Given the description of an element on the screen output the (x, y) to click on. 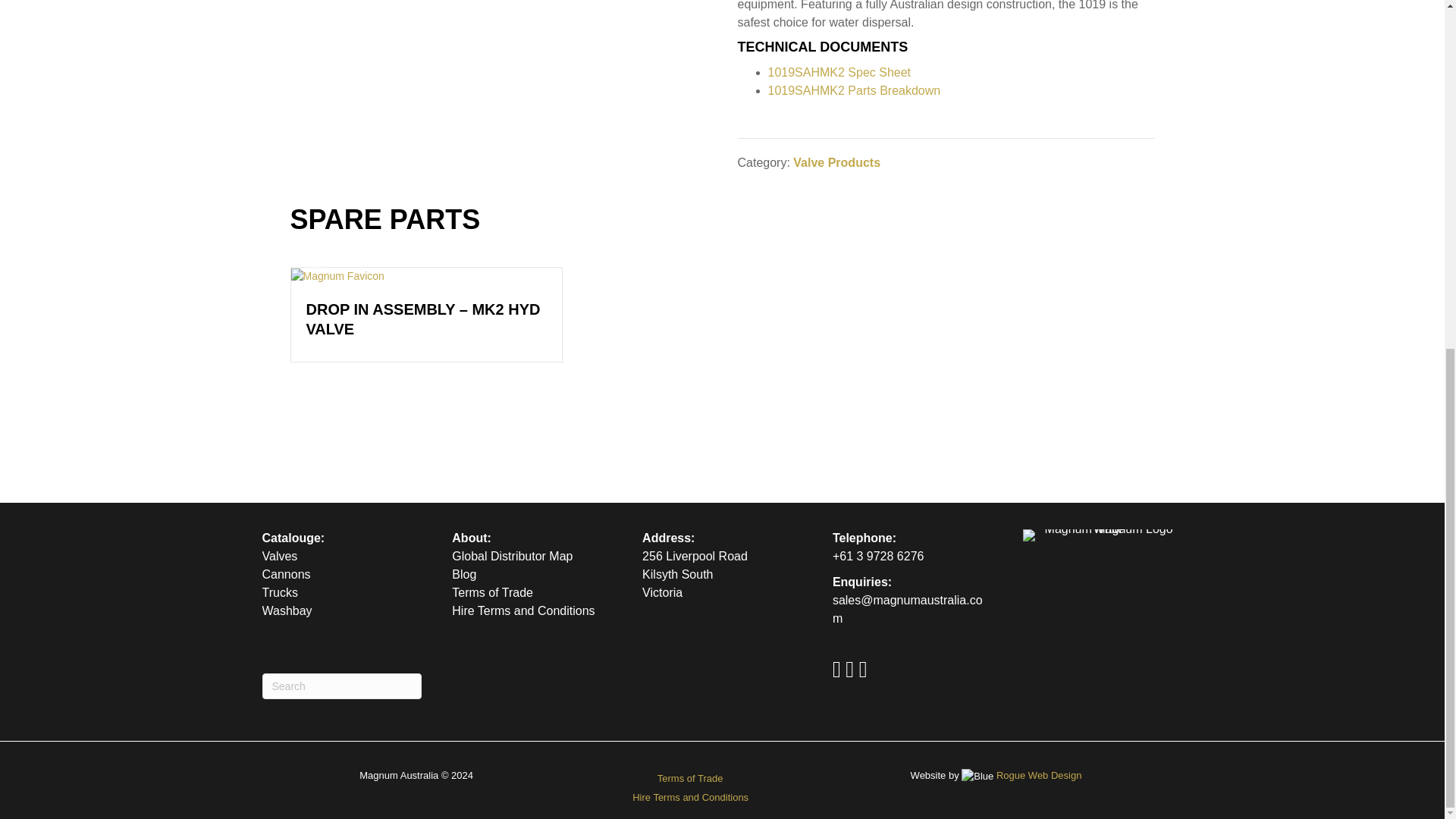
Cannons (286, 574)
Magnum Magnum Logo White (1102, 535)
Type and press Enter to search. (342, 686)
Valves (280, 555)
Blog (463, 574)
Terms of Trade (491, 592)
1019SAHMK2 Spec Sheet (839, 72)
Trucks (280, 592)
Valve Products (836, 162)
Washbay (287, 610)
